Given the description of an element on the screen output the (x, y) to click on. 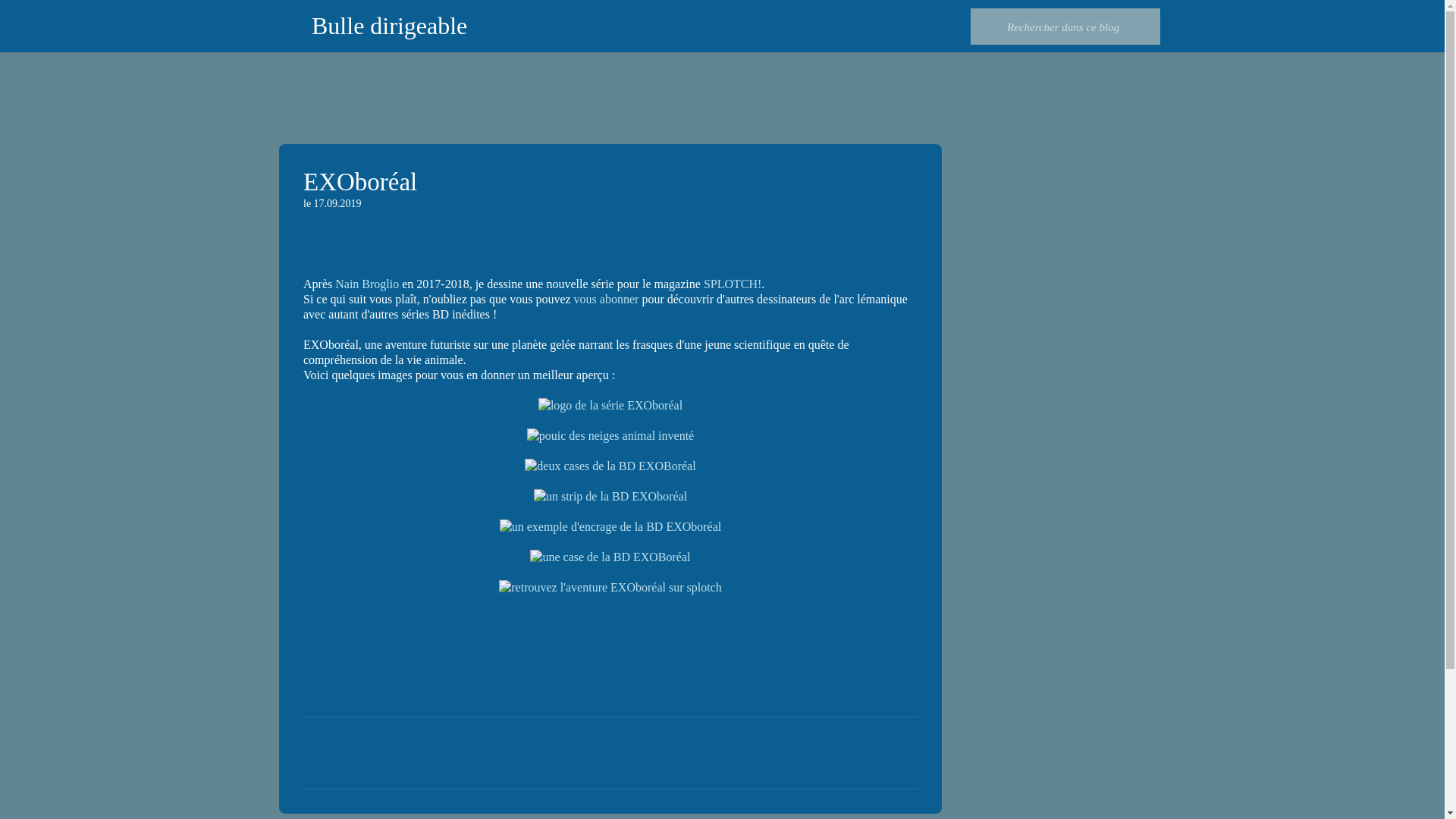
Bulle dirigeable Element type: text (389, 25)
vous abonner Element type: text (606, 298)
Nain Broglio Element type: text (366, 283)
SPLOTCH! Element type: text (732, 283)
17.09.2019 Element type: text (337, 203)
